Given the description of an element on the screen output the (x, y) to click on. 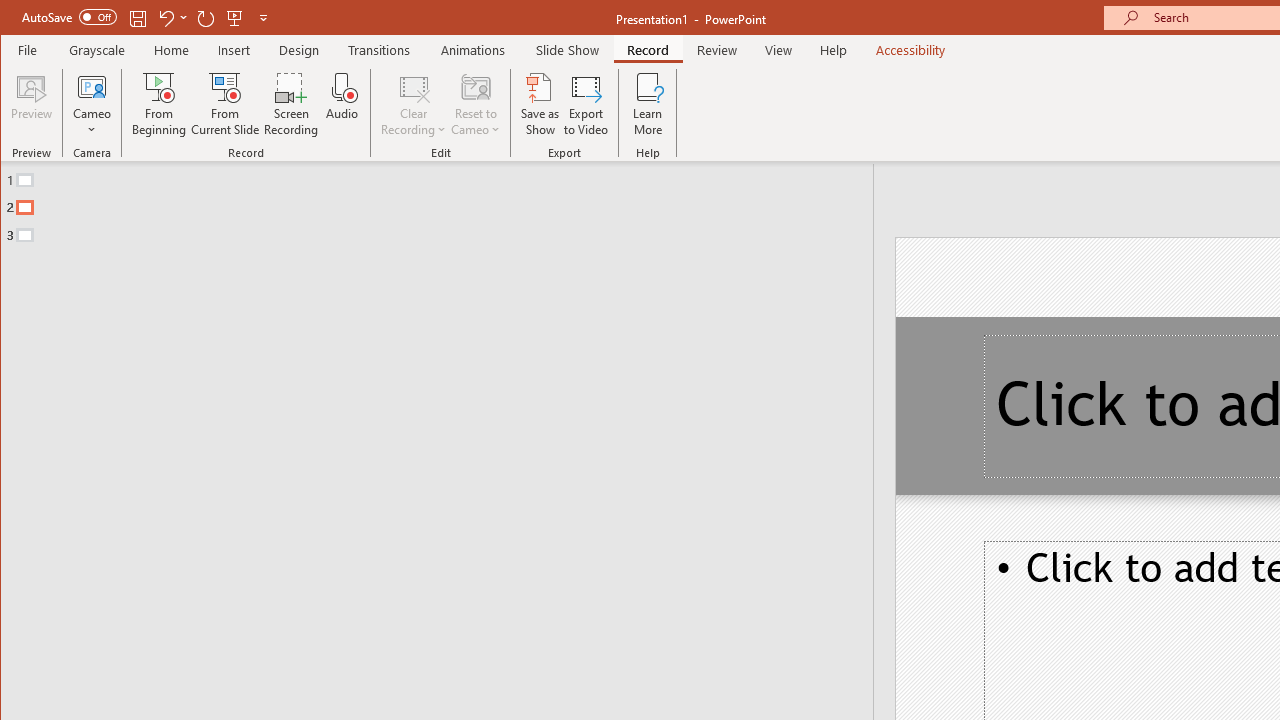
Clear Recording (413, 104)
Learn More (648, 104)
Reset to Cameo (476, 104)
Export to Video (585, 104)
From Current Slide... (225, 104)
Screen Recording (291, 104)
